Given the description of an element on the screen output the (x, y) to click on. 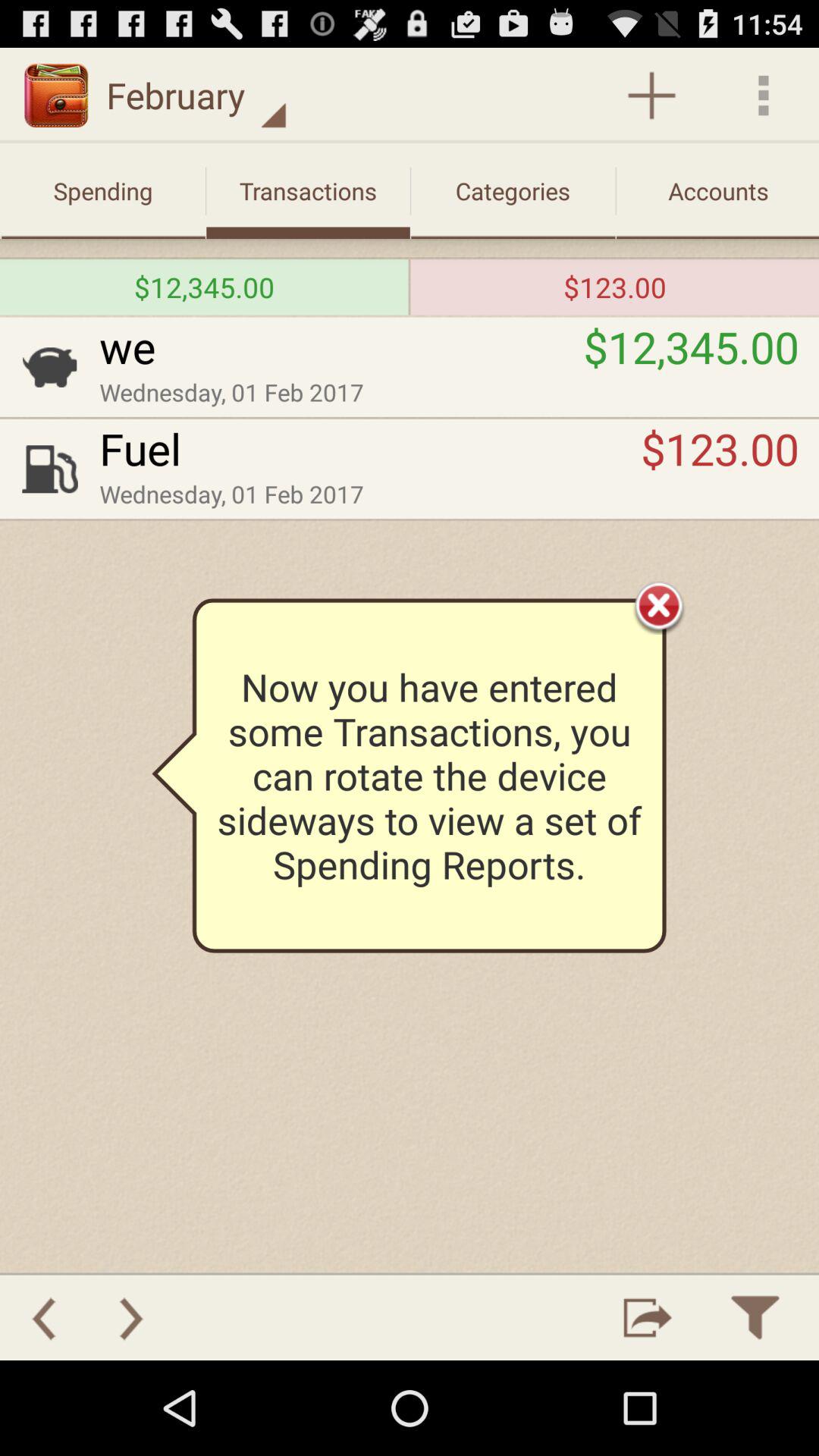
close box (659, 605)
